Given the description of an element on the screen output the (x, y) to click on. 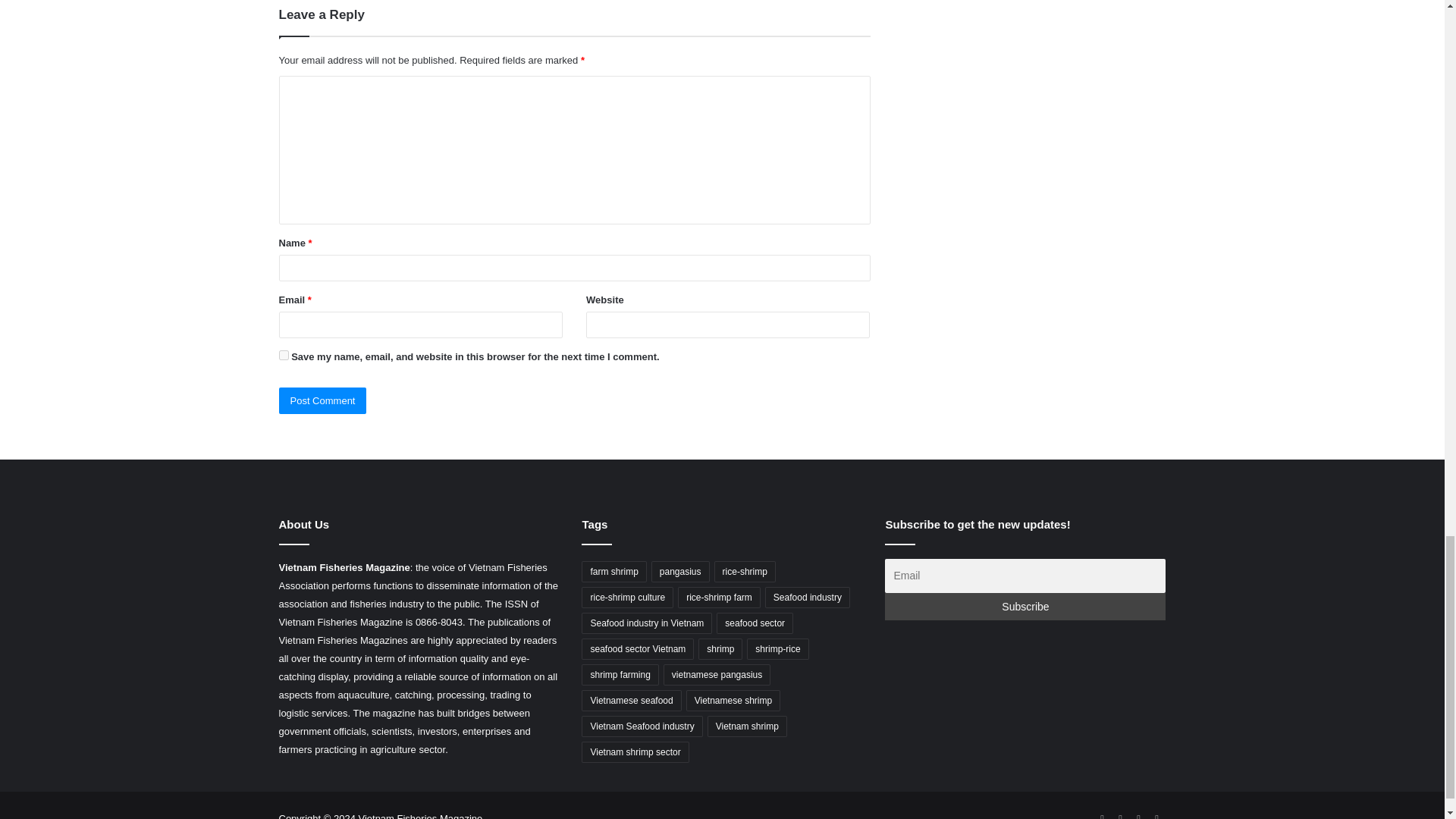
Subscribe (1025, 605)
Post Comment (322, 400)
yes (283, 355)
